Given the description of an element on the screen output the (x, y) to click on. 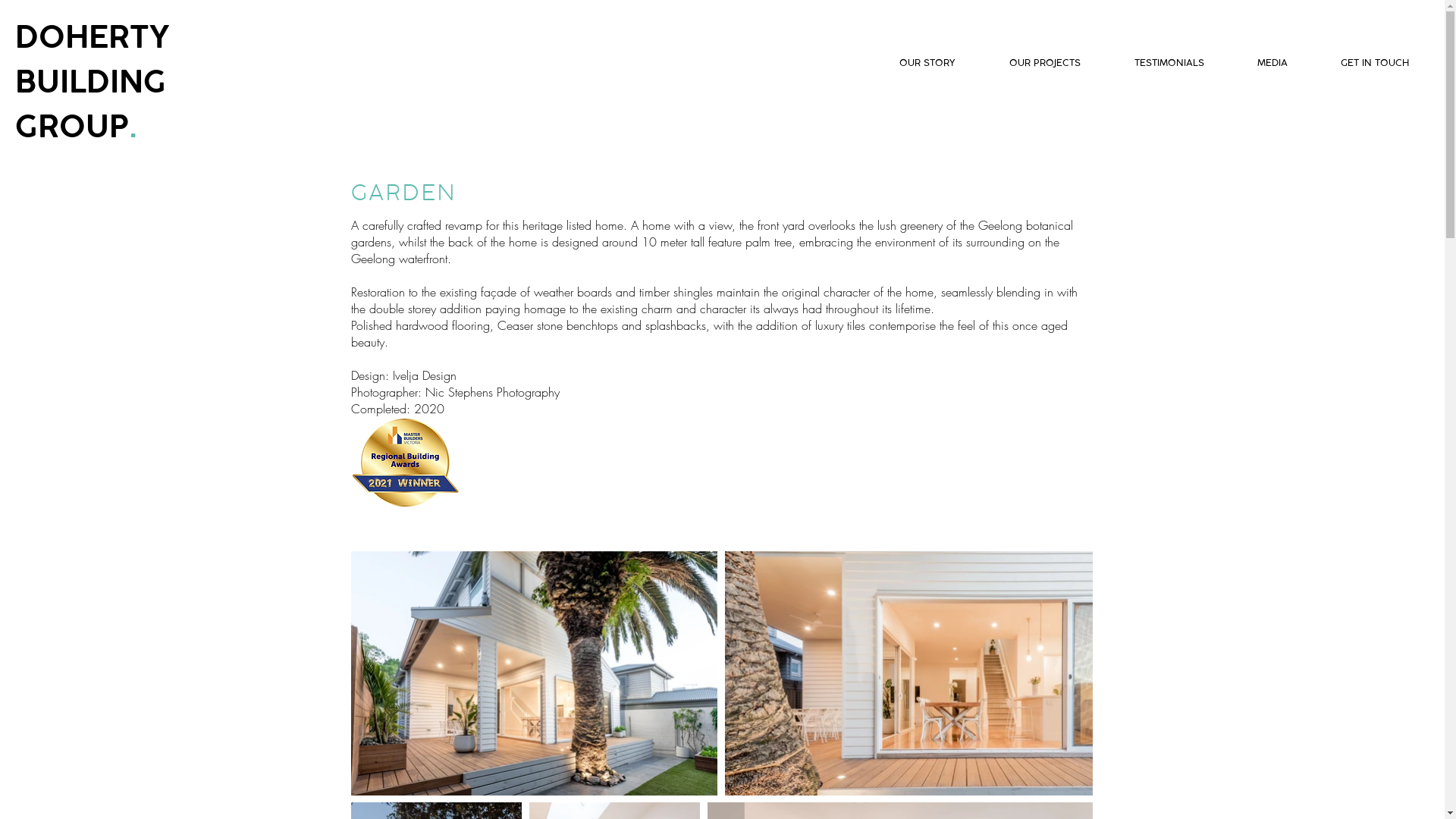
DOHERTY
BUILDING
GROUP. Element type: text (92, 80)
OUR STORY Element type: text (911, 62)
GET IN TOUCH Element type: text (1359, 62)
OUR PROJECTS Element type: text (1029, 62)
TESTIMONIALS Element type: text (1153, 62)
MEDIA Element type: text (1257, 62)
